Given the description of an element on the screen output the (x, y) to click on. 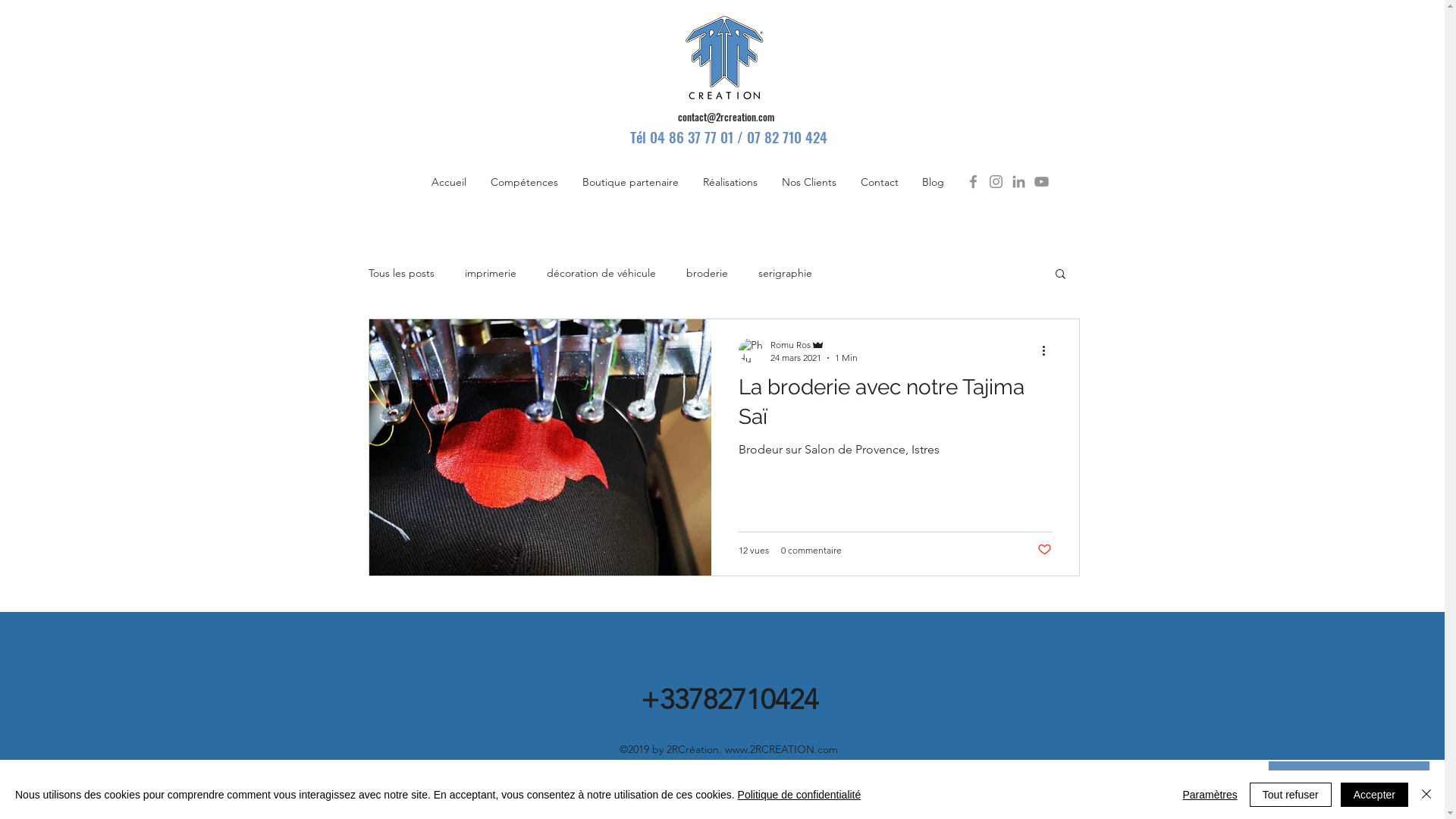
Boutique partenaire Element type: text (630, 181)
serigraphie Element type: text (785, 272)
Nos Clients Element type: text (807, 181)
Tout refuser Element type: text (1290, 794)
contact@2rcreation.com Element type: text (725, 117)
+33782710424 Element type: text (728, 698)
Tous les posts Element type: text (401, 272)
0 commentaire Element type: text (811, 549)
Blog Element type: text (932, 181)
broderie Element type: text (706, 272)
Accueil Element type: text (447, 181)
www.2RCREATION.com Element type: text (780, 749)
Vous n'aimez plus ce post Element type: text (1044, 550)
imprimerie Element type: text (489, 272)
Accepter Element type: text (1374, 794)
Contact Element type: text (878, 181)
Romu Ros Element type: text (813, 344)
